Given the description of an element on the screen output the (x, y) to click on. 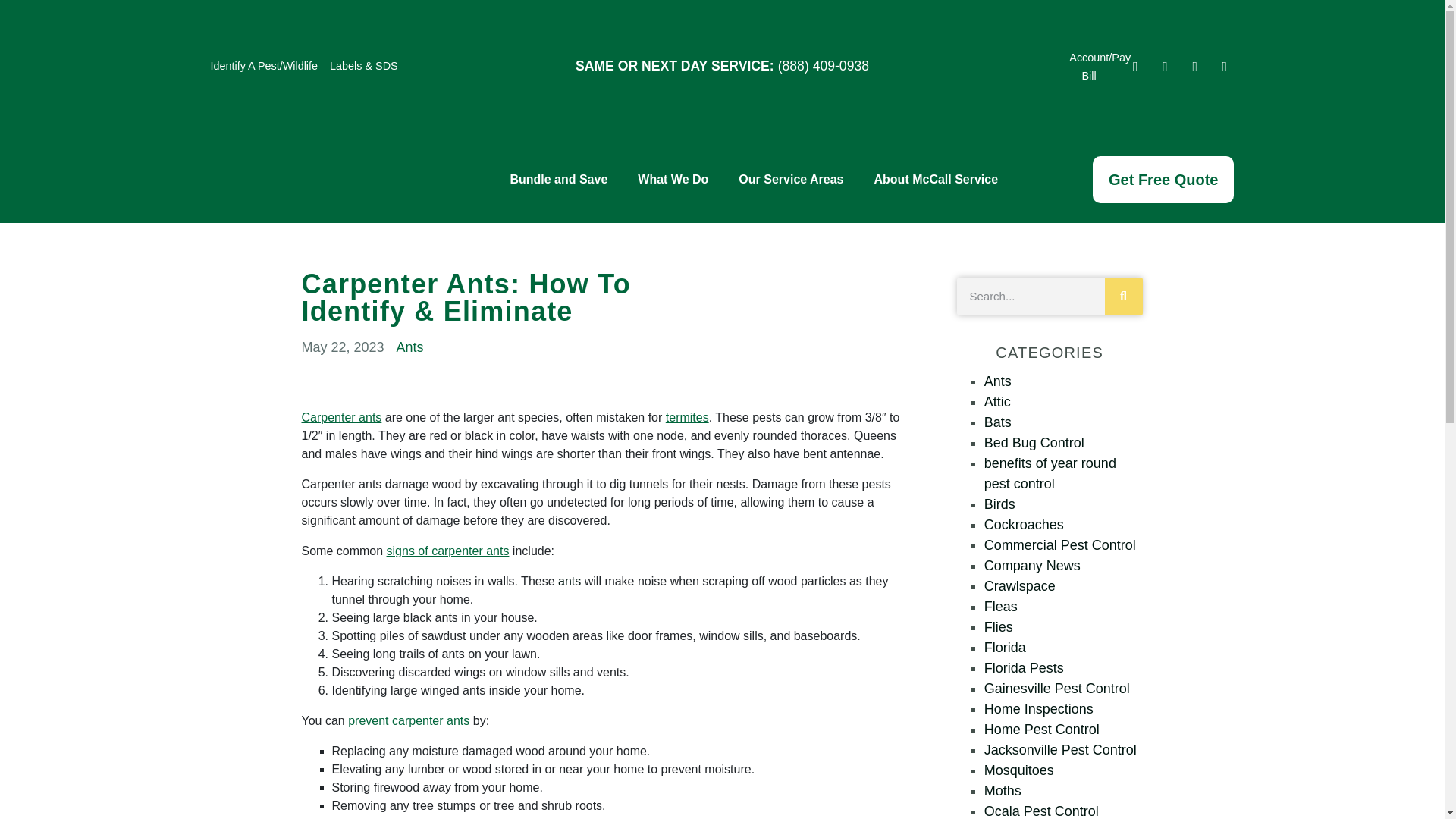
Our Service Areas (791, 179)
What We Do (673, 179)
Bundle and Save (559, 179)
About McCall Service (936, 179)
